Given the description of an element on the screen output the (x, y) to click on. 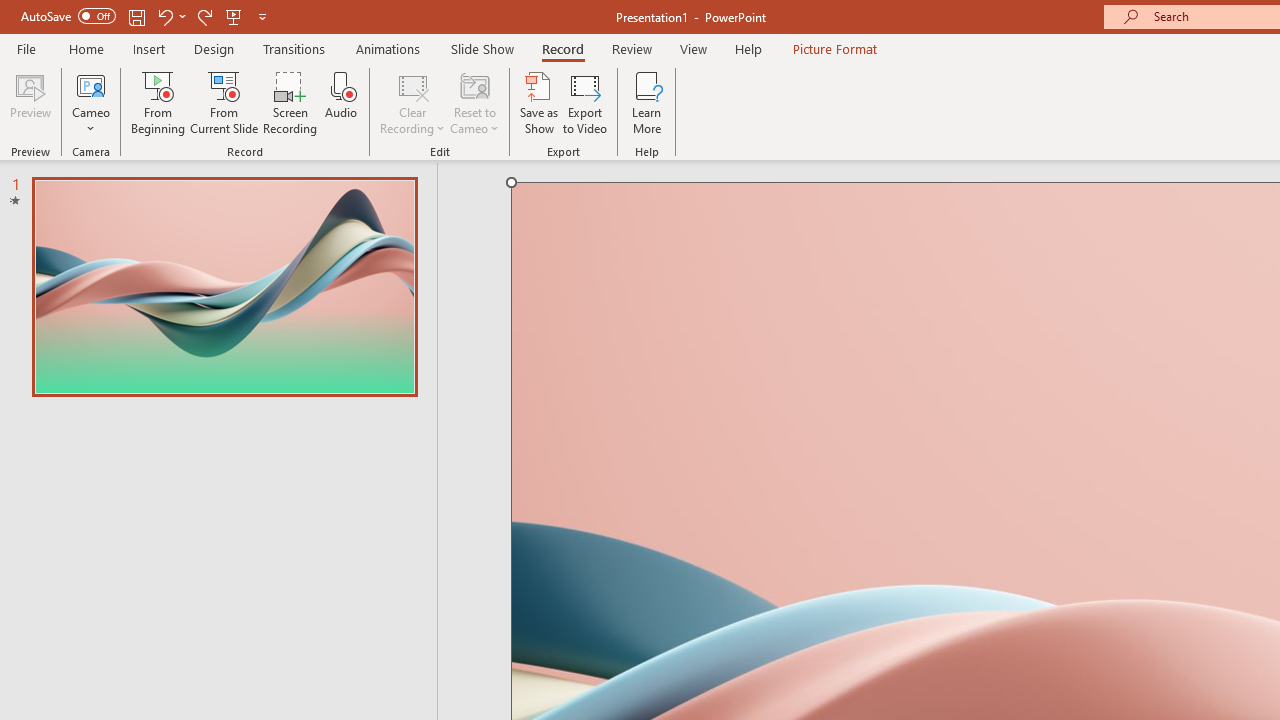
Audio (341, 102)
Clear Recording (412, 102)
Reset to Cameo (474, 102)
Learn More (646, 102)
From Current Slide... (224, 102)
